Given the description of an element on the screen output the (x, y) to click on. 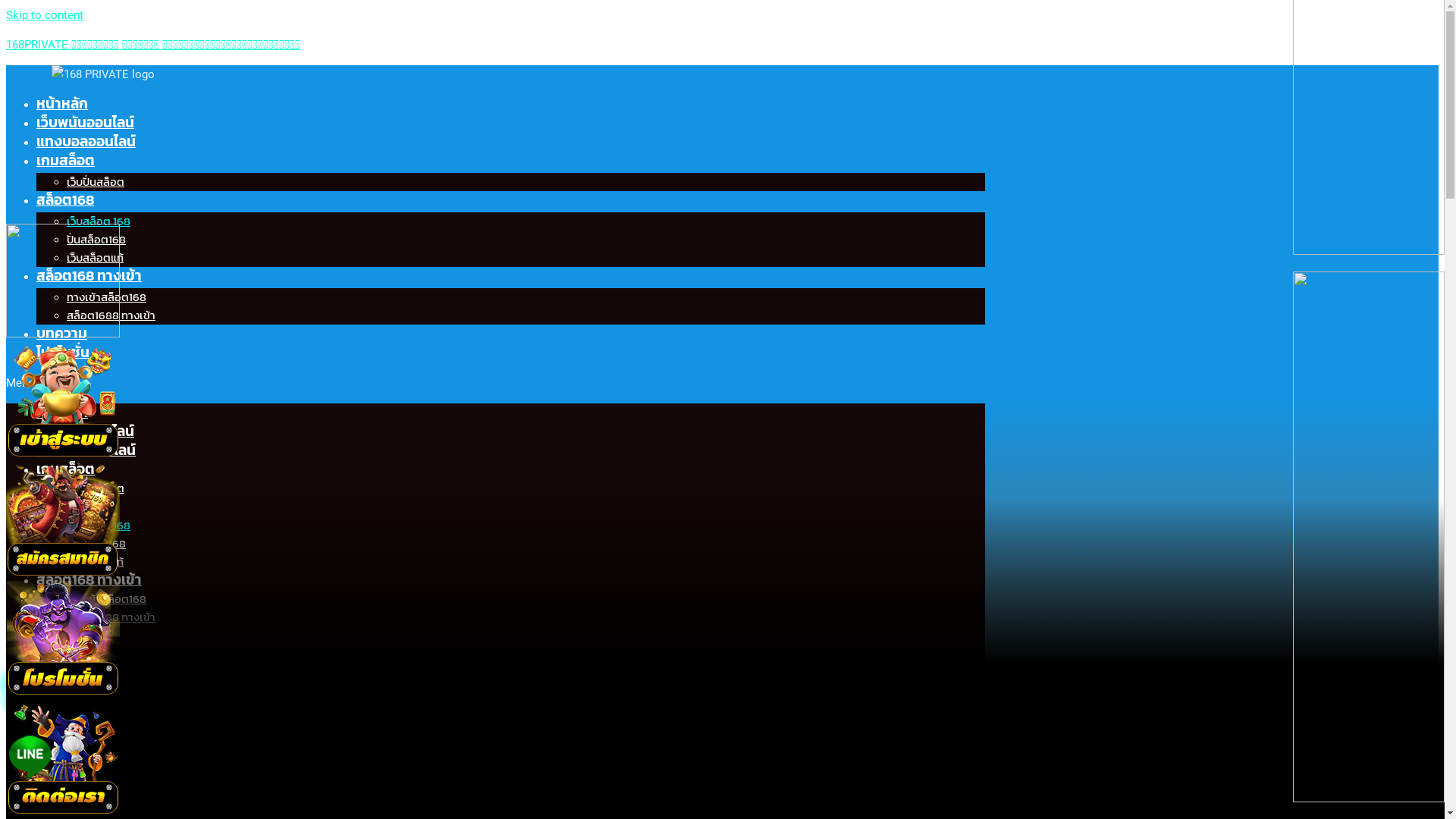
Skip to content Element type: text (44, 14)
